Given the description of an element on the screen output the (x, y) to click on. 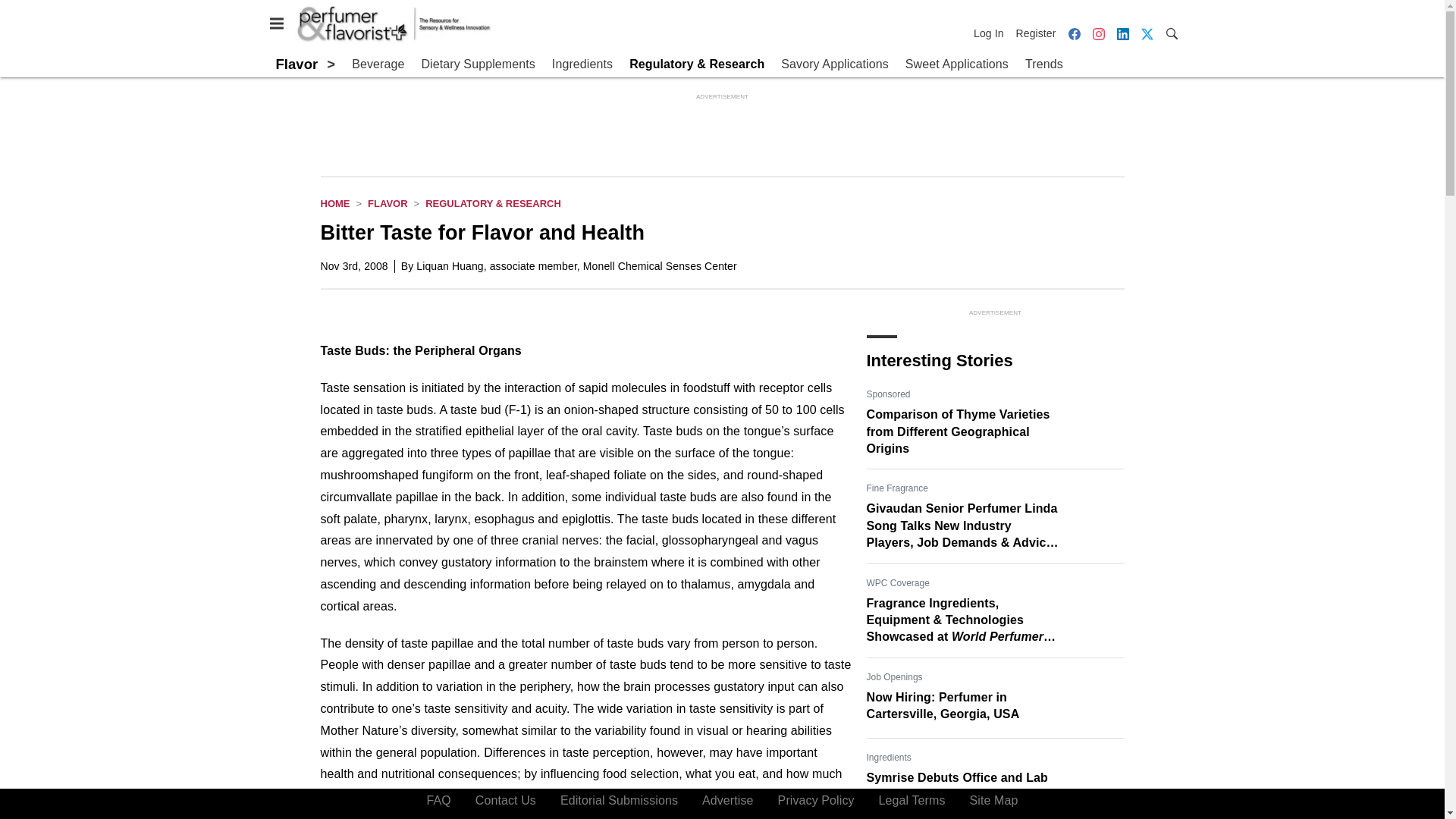
Flavor (387, 203)
Beverage (378, 64)
Trends (1043, 64)
Home (334, 203)
Twitter X icon (1146, 33)
Facebook icon (1073, 33)
Instagram icon (1097, 33)
Instagram icon (1097, 33)
LinkedIn icon (1121, 33)
LinkedIn icon (1122, 33)
